Given the description of an element on the screen output the (x, y) to click on. 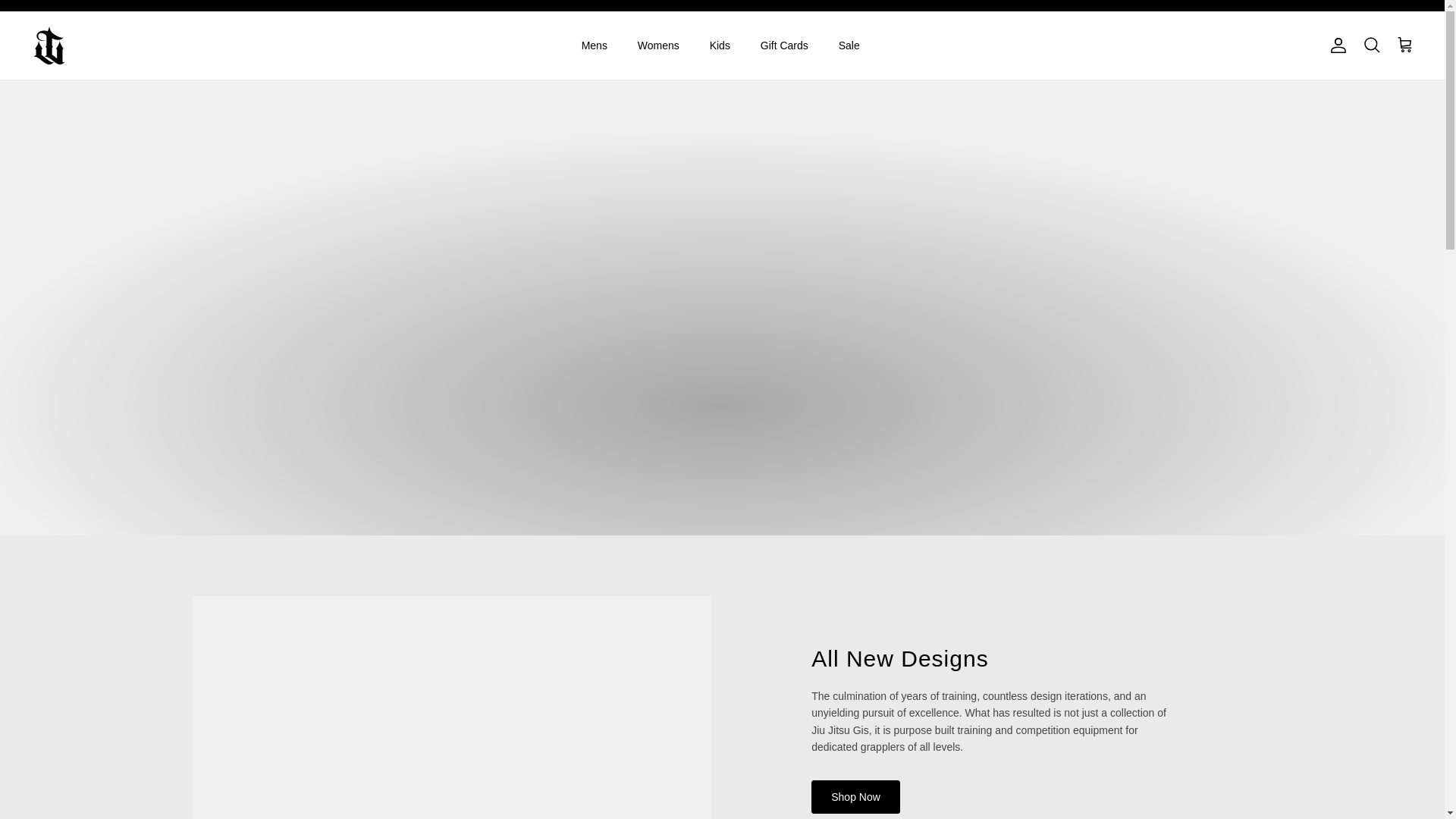
Kids (719, 45)
War Tribe (49, 45)
Gift Cards (784, 45)
Mens (594, 45)
Cart (1404, 45)
Search (1371, 45)
Account (1335, 45)
Womens (658, 45)
Sale (849, 45)
